Given the description of an element on the screen output the (x, y) to click on. 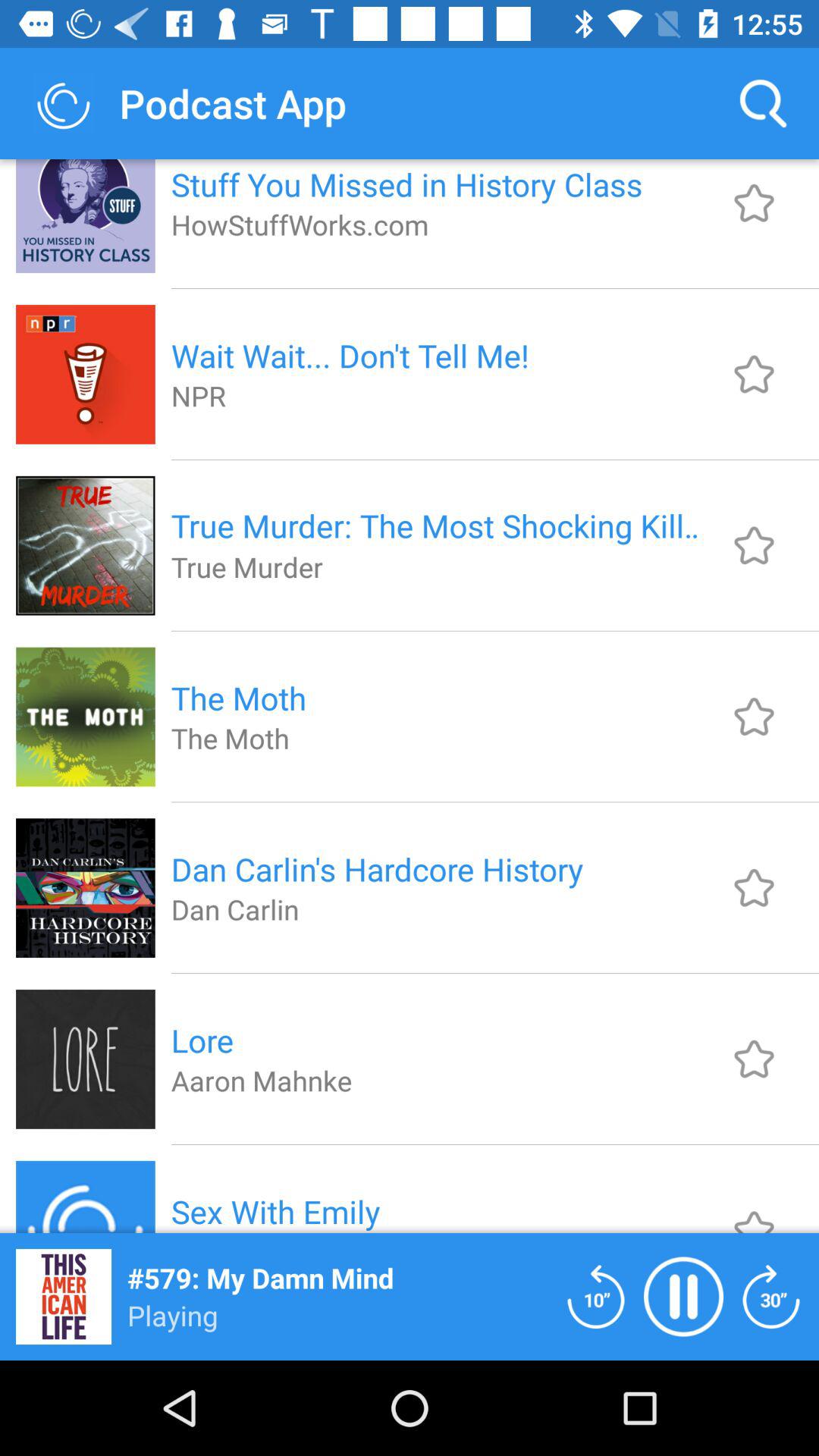
adicionar aos favoritos (754, 1058)
